Given the description of an element on the screen output the (x, y) to click on. 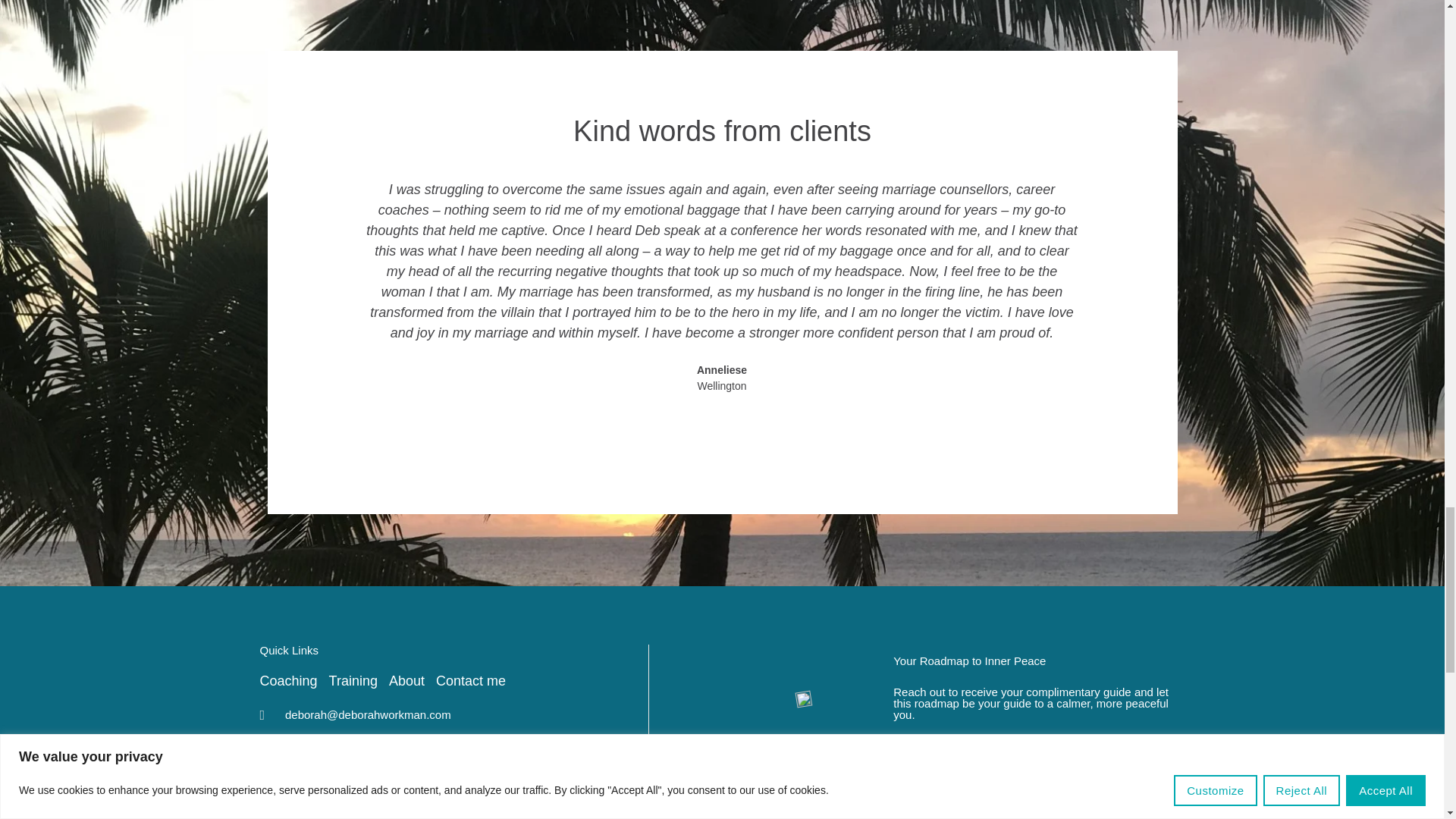
About (406, 680)
EMAIL ME TO RECIEVE A COPY! (996, 749)
Contact me (470, 680)
Coaching (288, 680)
Training (353, 680)
